Given the description of an element on the screen output the (x, y) to click on. 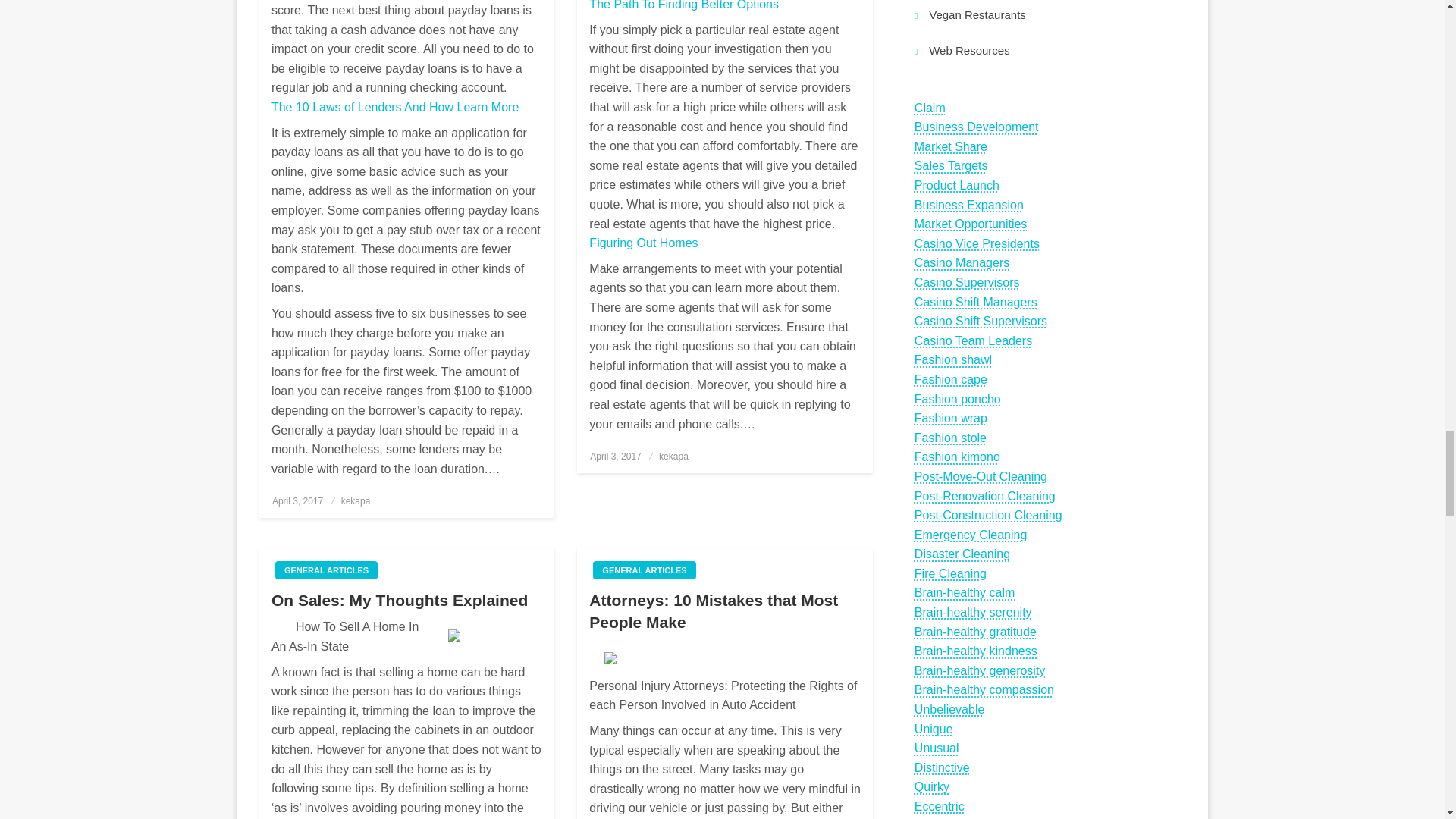
kekapa (673, 456)
kekapa (355, 501)
